Given the description of an element on the screen output the (x, y) to click on. 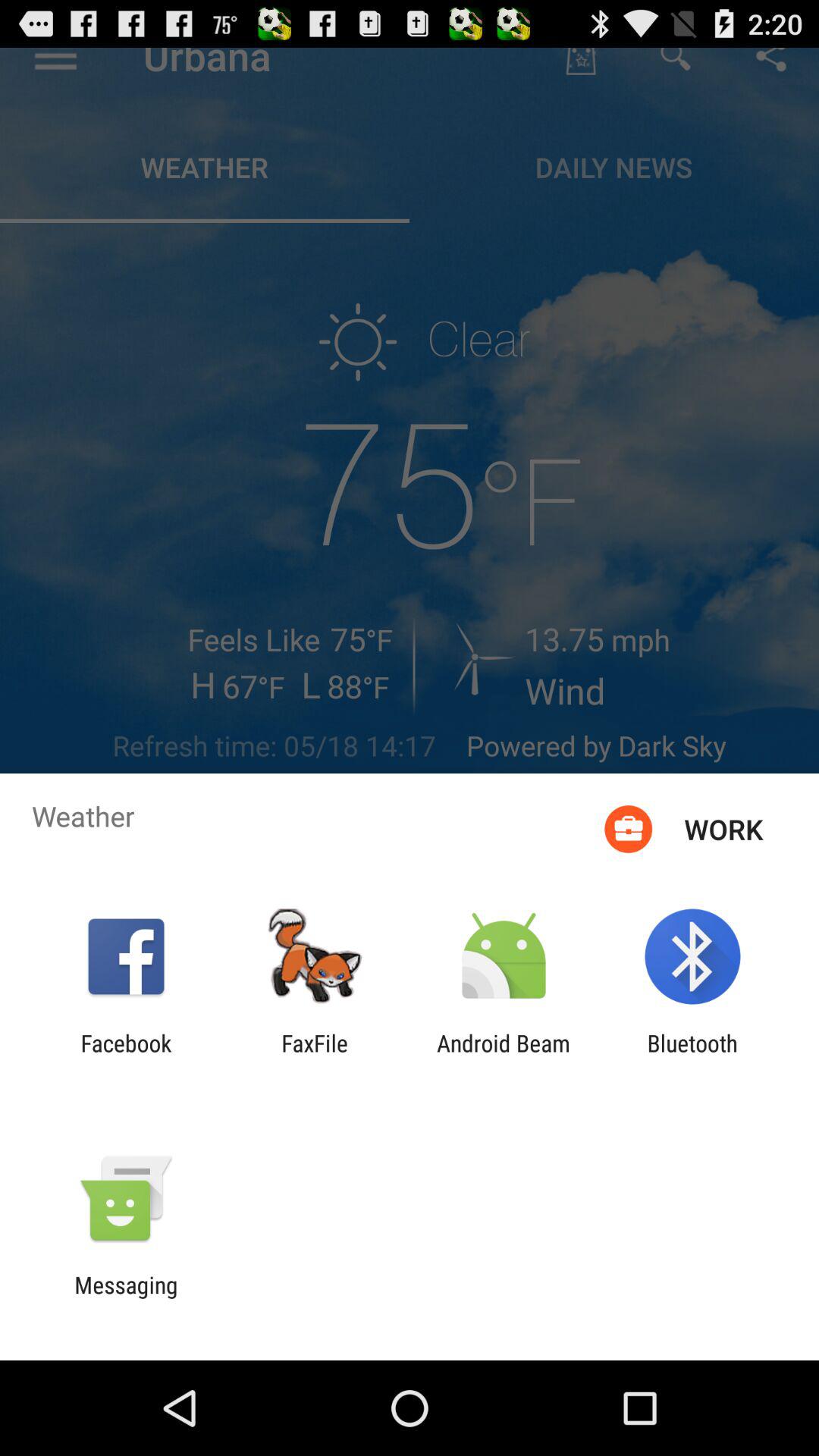
jump to the bluetooth (692, 1056)
